Given the description of an element on the screen output the (x, y) to click on. 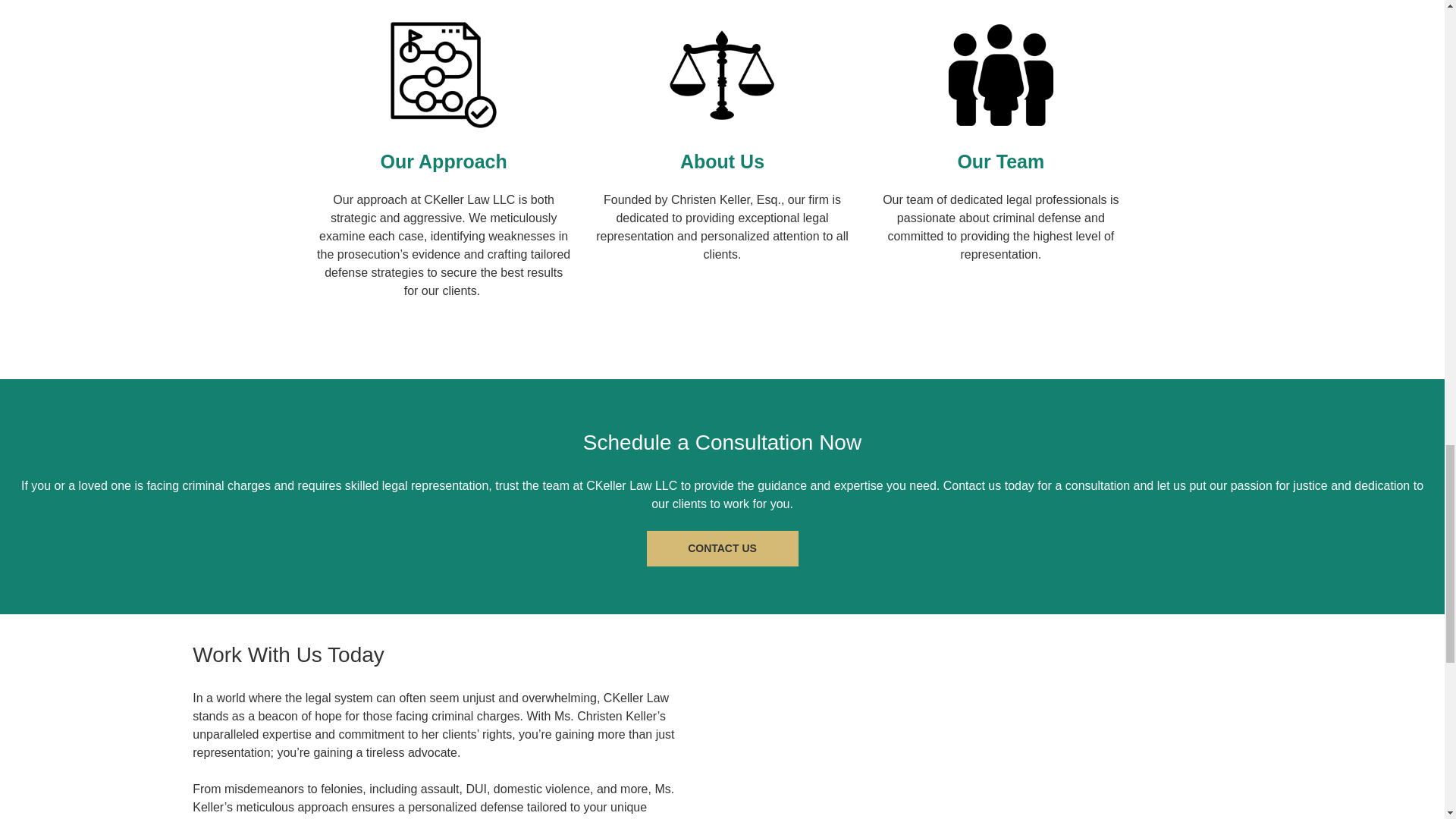
CONTACT US (721, 548)
About Us (721, 160)
Our Approach (443, 160)
Our Team (999, 160)
